Given the description of an element on the screen output the (x, y) to click on. 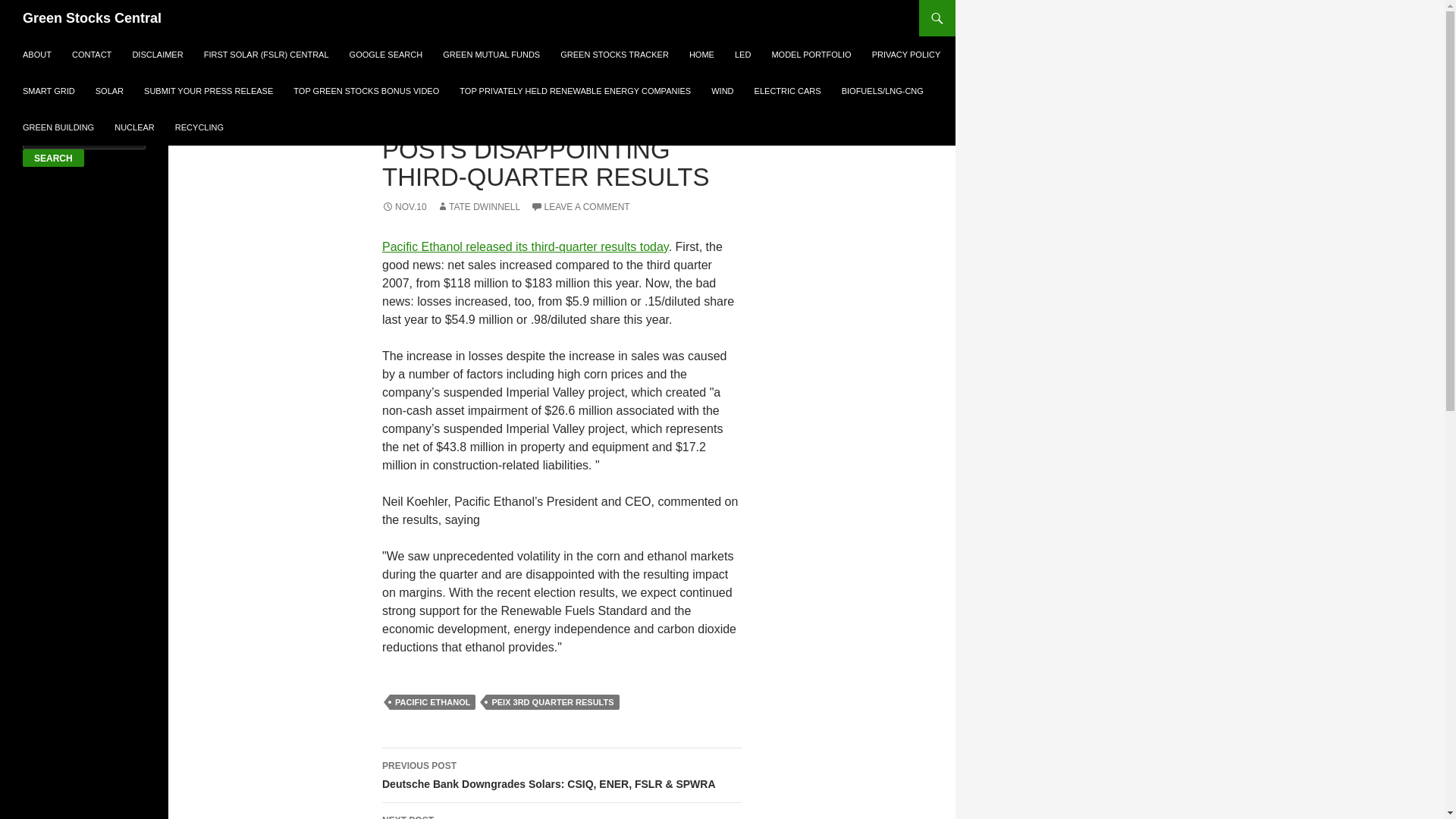
CONTACT (91, 54)
NOV.10 (403, 206)
SMART GRID (48, 90)
Search (53, 158)
TATE DWINNELL (477, 206)
PACIFIC ETHANOL (433, 702)
Green Stocks Central (92, 18)
ELECTRIC CARS (787, 90)
PEIX 3RD QUARTER RESULTS (552, 702)
GOOGLE SEARCH (386, 54)
Search (53, 158)
GREEN STOCKS TRACKER (614, 54)
Pacific Ethanol released its third-quarter results today (524, 246)
TOP PRIVATELY HELD RENEWABLE ENERGY COMPANIES (574, 90)
GREEN BUILDING (58, 126)
